Given the description of an element on the screen output the (x, y) to click on. 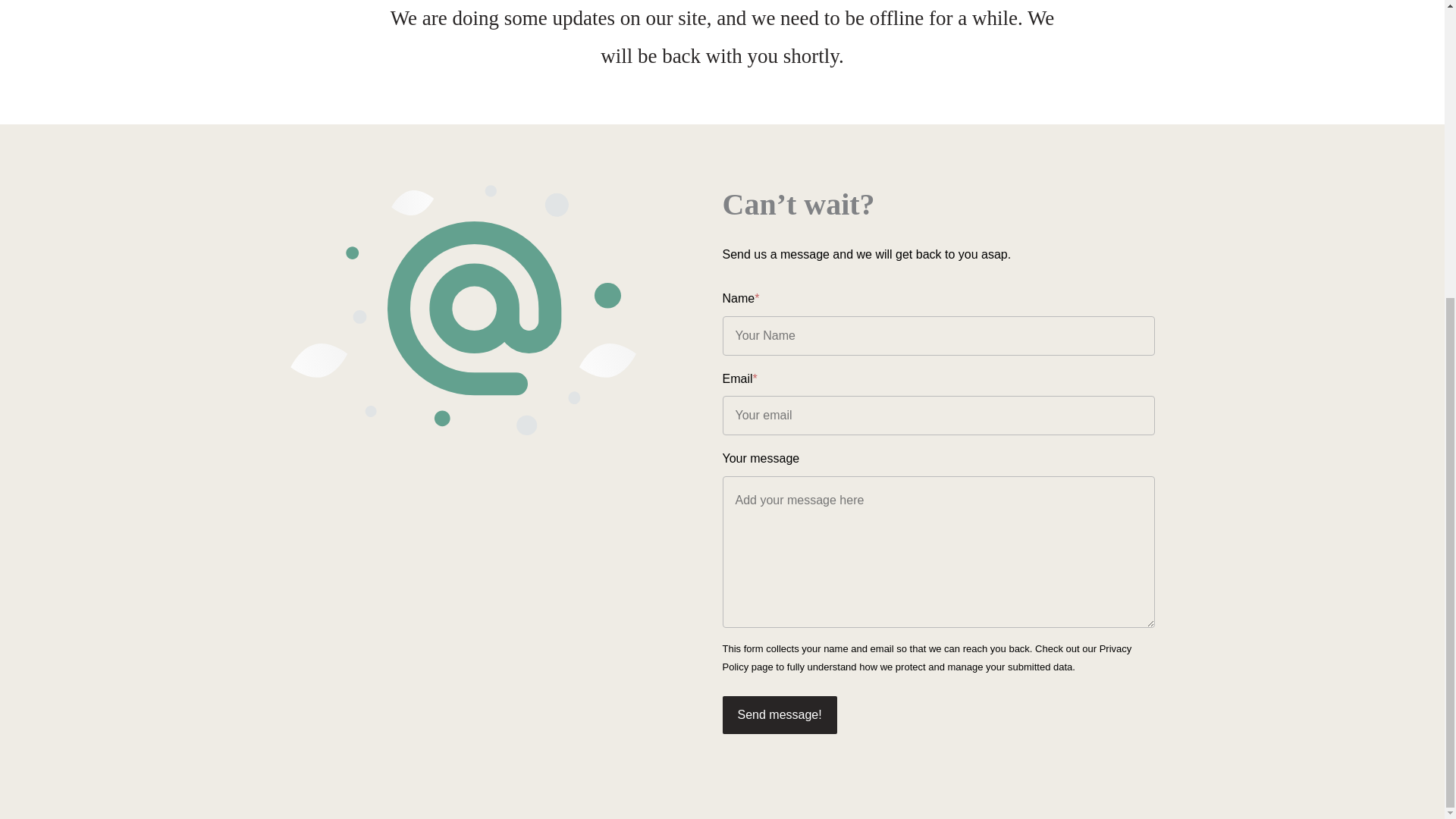
Send message! (778, 714)
Privacy Policy (926, 657)
